Given the description of an element on the screen output the (x, y) to click on. 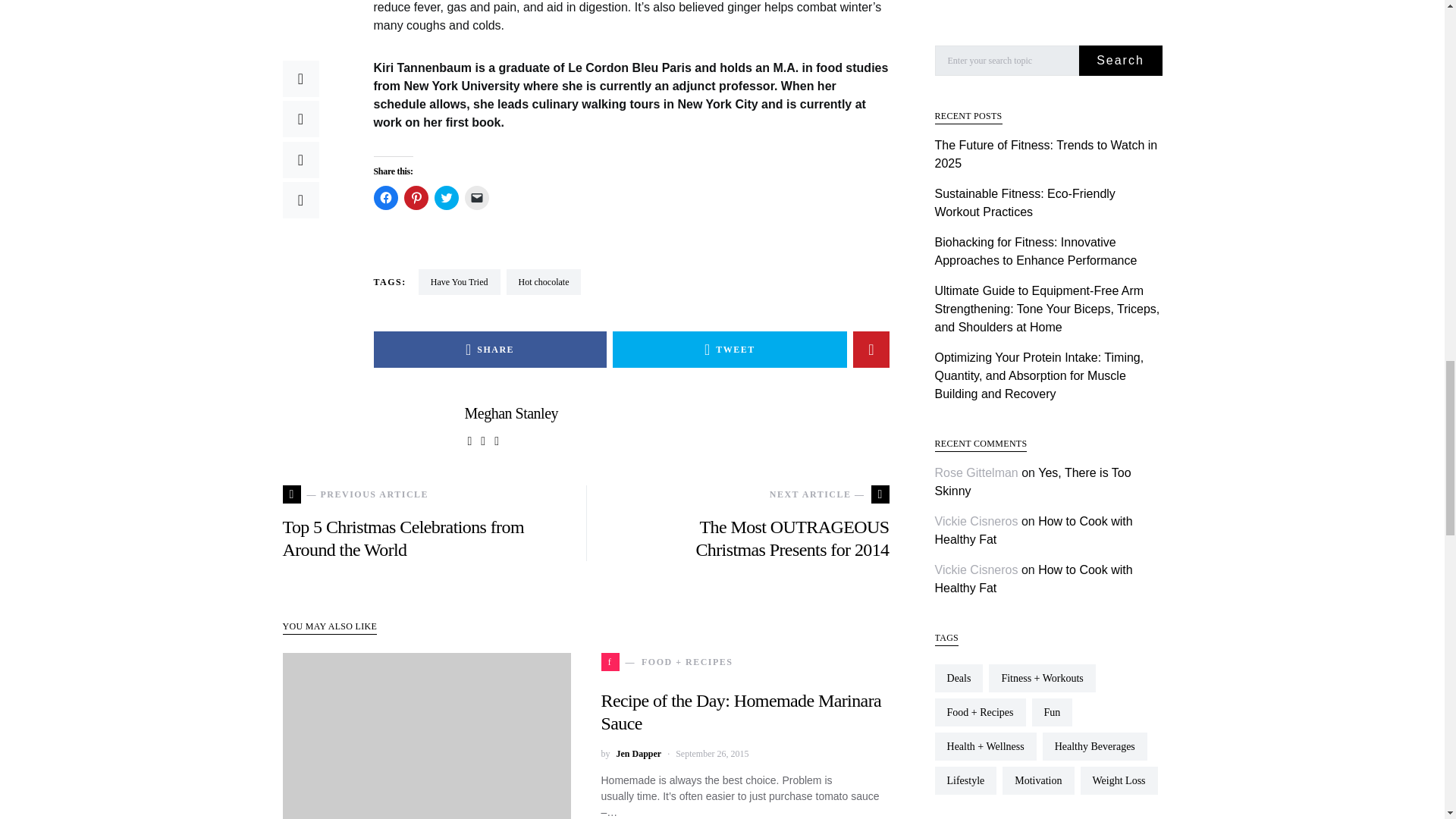
hot chocolate (543, 281)
View all posts by Jen Dapper (638, 753)
SHARE (488, 349)
Click to share on Twitter (445, 197)
TWEET (729, 349)
Click to share on Pinterest (415, 197)
Click to email a link to a friend (475, 197)
Have You Tried (459, 281)
Click to share on Facebook (384, 197)
